Given the description of an element on the screen output the (x, y) to click on. 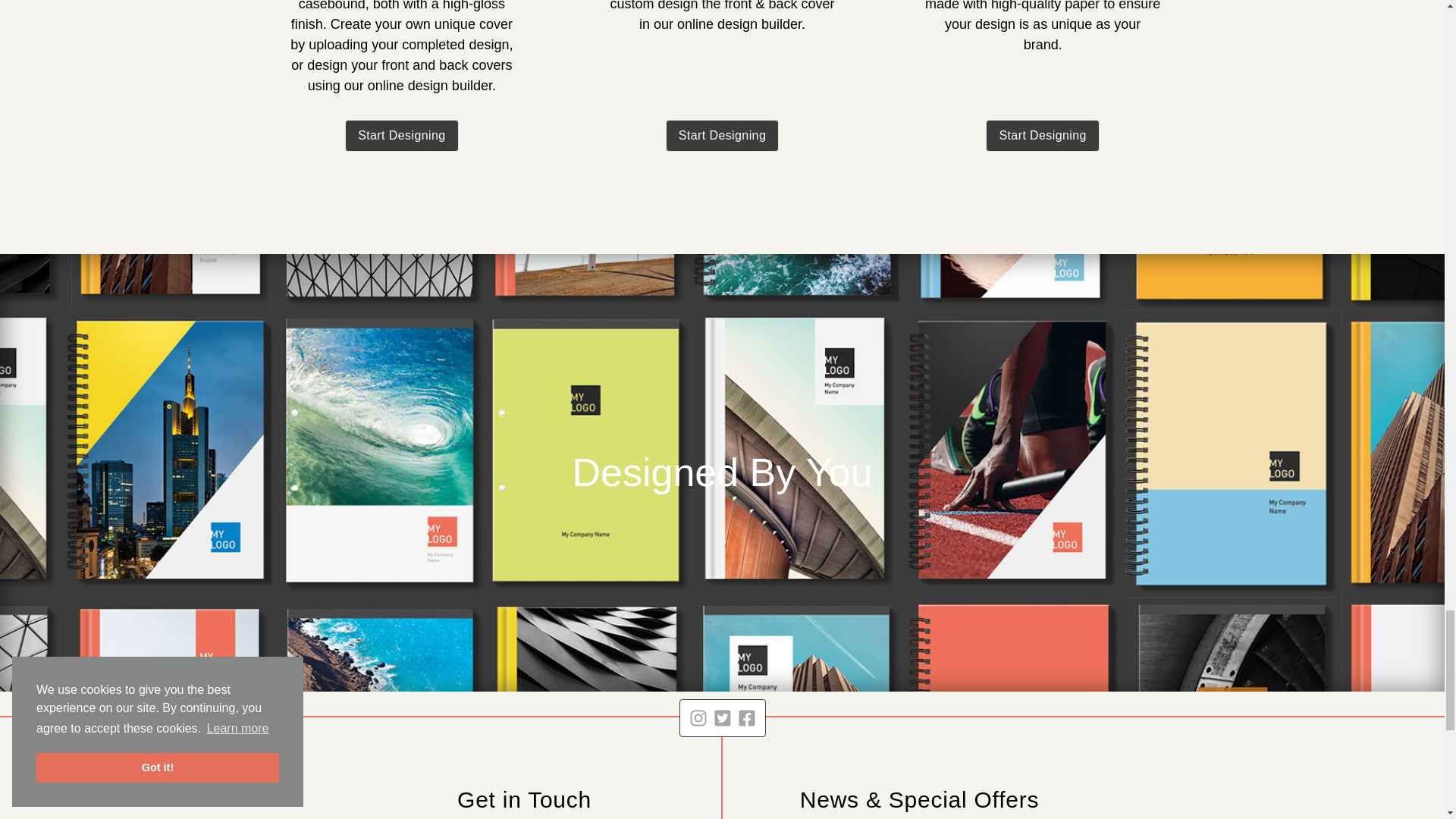
Start Designing (721, 135)
Start Designing (1042, 135)
Start Designing (401, 135)
